Given the description of an element on the screen output the (x, y) to click on. 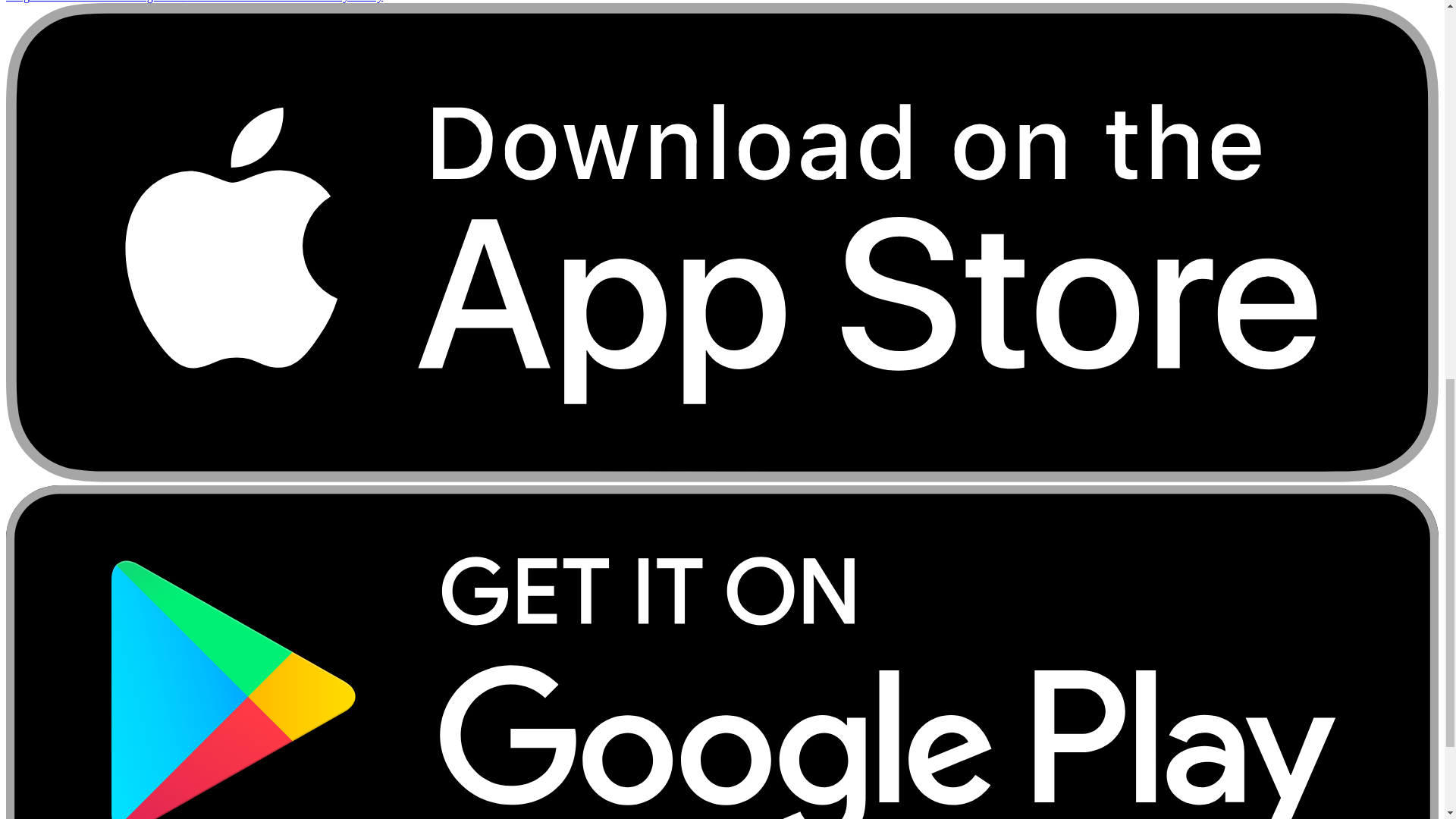
Go Green (53, 1)
Blog (17, 1)
Influencer Programme (131, 1)
